Given the description of an element on the screen output the (x, y) to click on. 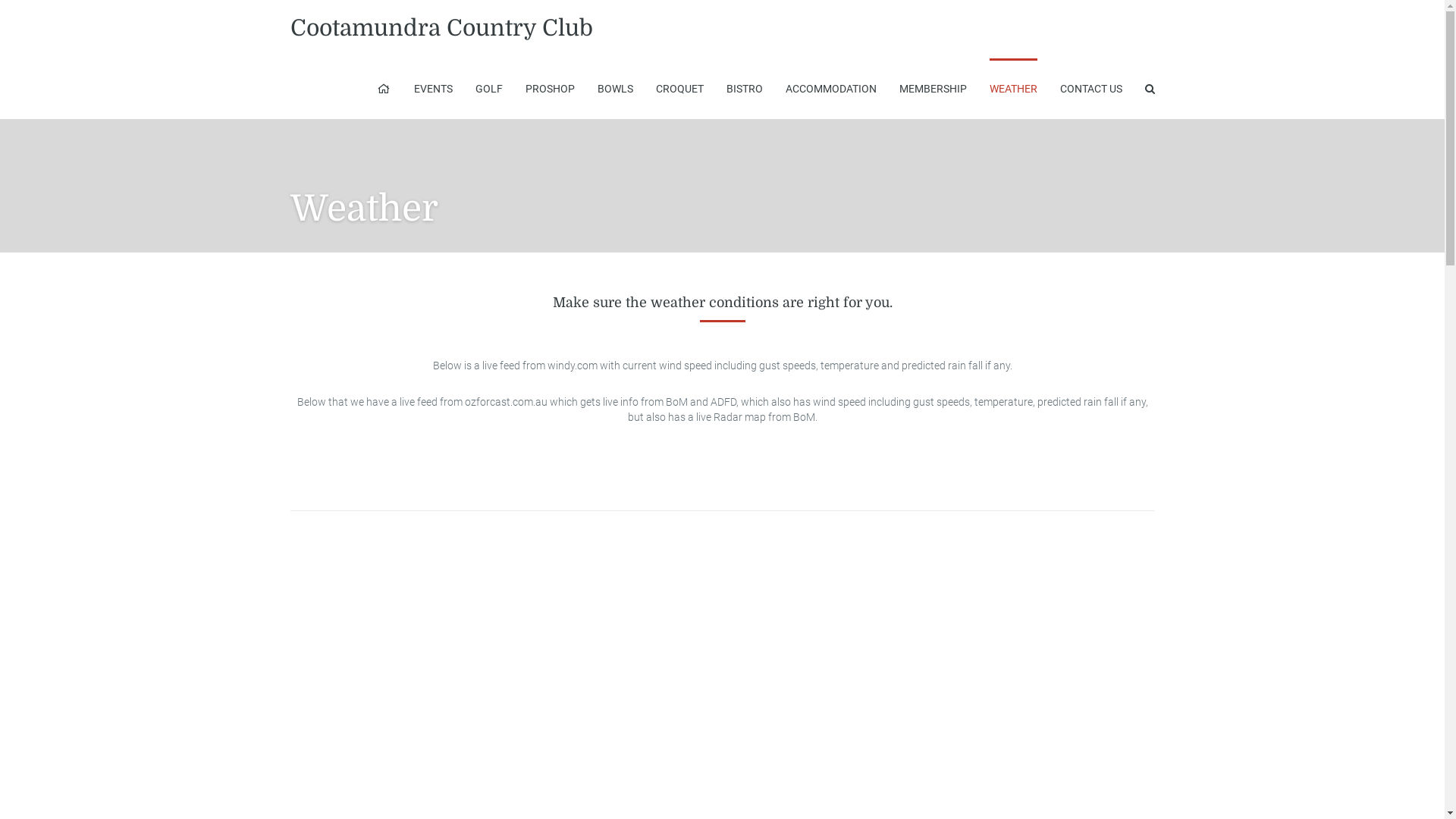
ACCOMMODATION Element type: text (830, 88)
WEATHER Element type: text (1012, 88)
CONTACT US Element type: text (1091, 88)
EVENTS Element type: text (433, 88)
MEMBERSHIP Element type: text (932, 88)
BOWLS Element type: text (615, 88)
PROSHOP Element type: text (549, 88)
GOLF Element type: text (488, 88)
CROQUET Element type: text (678, 88)
BISTRO Element type: text (744, 88)
